Given the description of an element on the screen output the (x, y) to click on. 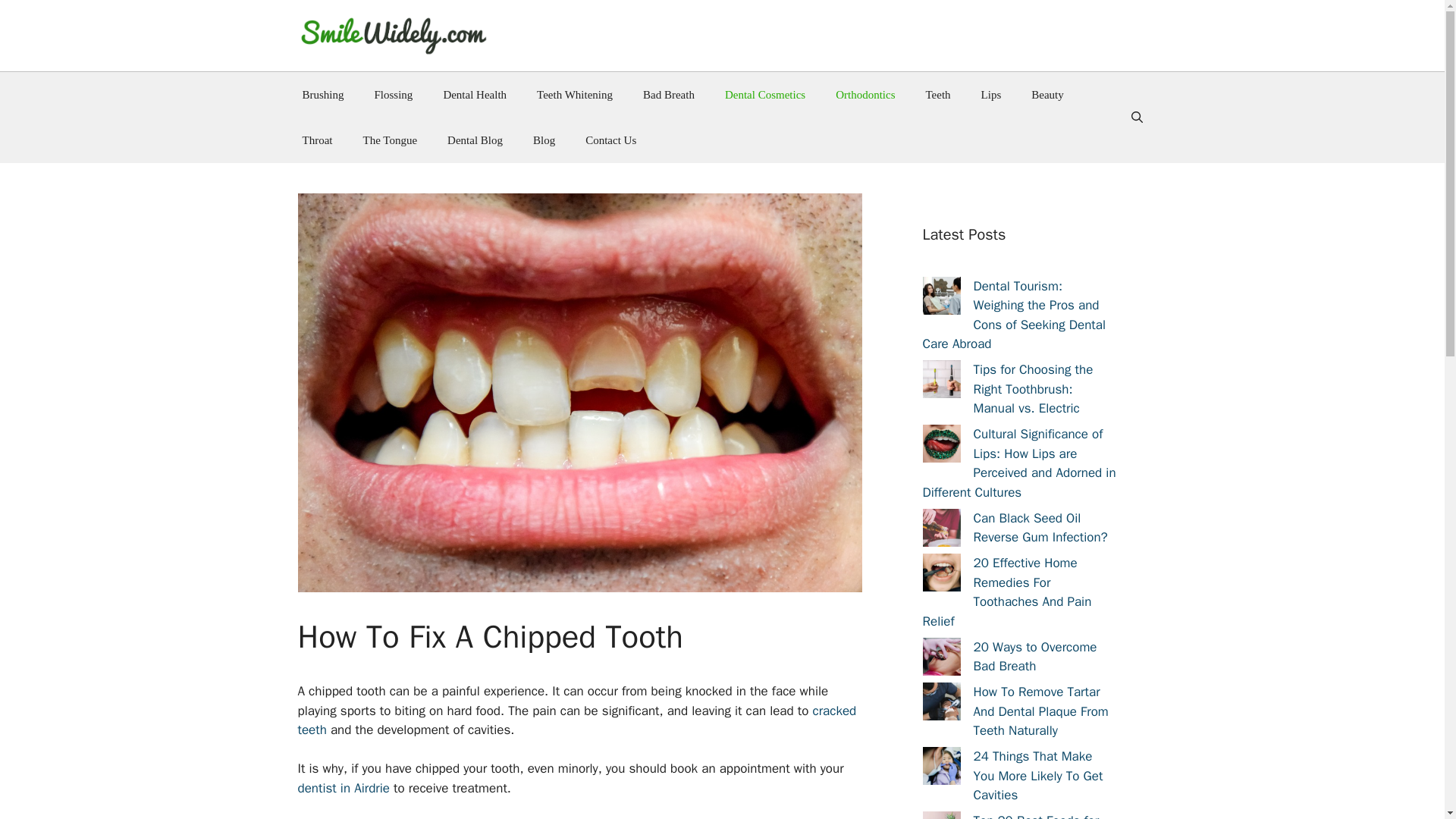
Lips (991, 94)
Brushing (322, 94)
Flossing (393, 94)
The Tongue (389, 139)
Dental Cosmetics (765, 94)
Orthodontics (865, 94)
cracked teeth (576, 720)
Teeth Whitening (574, 94)
Throat (316, 139)
Dental Blog (475, 139)
